Given the description of an element on the screen output the (x, y) to click on. 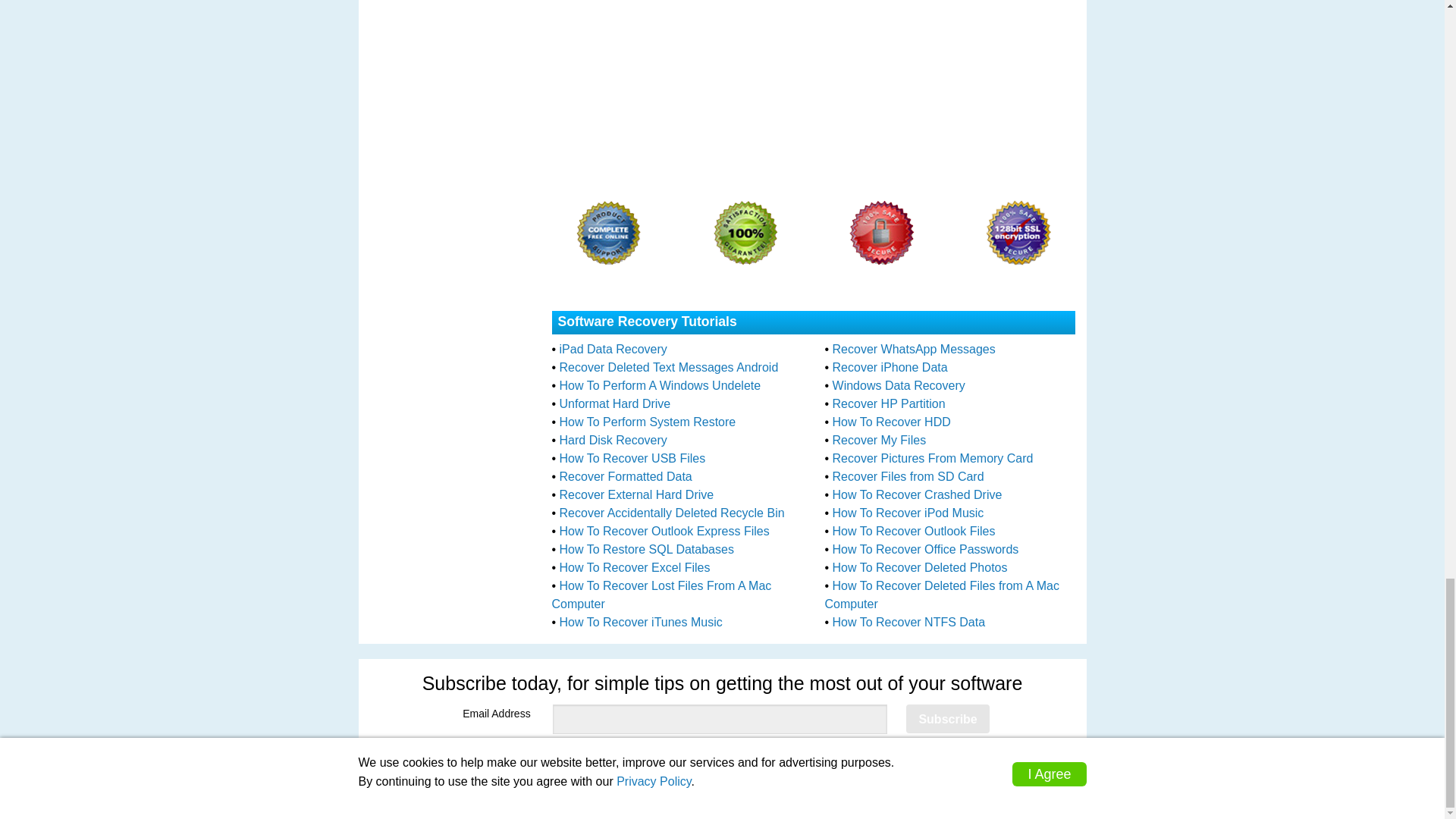
Hard Disk Recovery (612, 440)
How To Perform System Restore (647, 421)
Recover HP Partition (888, 403)
How To Perform A Windows Undelete (660, 385)
Recover My Files (879, 440)
iPad Data Recovery (612, 349)
Recover Deleted Text Messages Android (668, 367)
Recover iPhone Data (889, 367)
Recover WhatsApp Messages (913, 349)
Windows Data Recovery (898, 385)
Subscribe (946, 718)
Unformat Hard Drive (615, 403)
How To Recover USB Files (632, 458)
How To Recover HDD (891, 421)
